Given the description of an element on the screen output the (x, y) to click on. 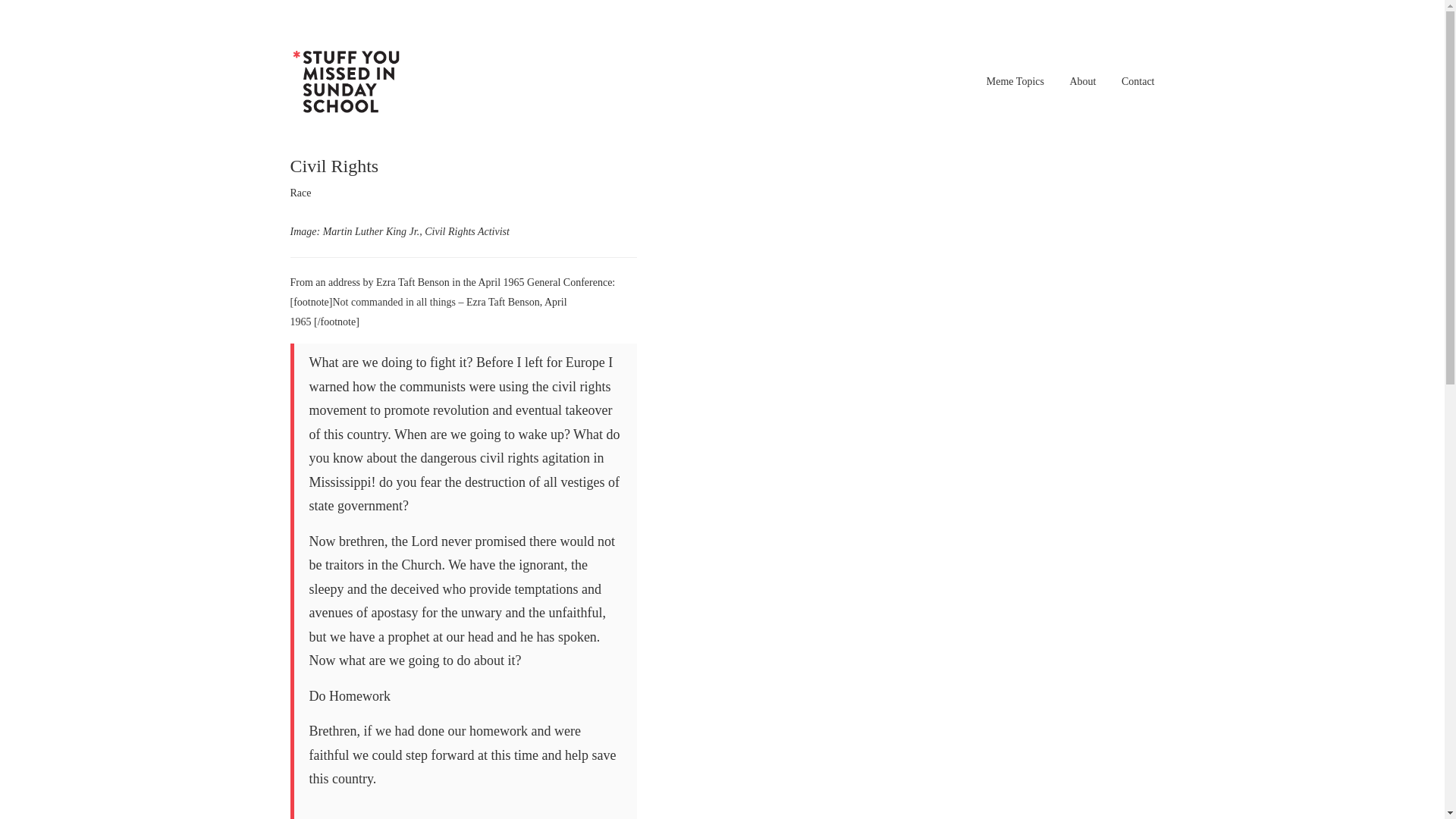
Not commanded in all things (393, 301)
About (1082, 81)
Contact (1137, 81)
Meme Topics (1015, 81)
Race (300, 193)
